Given the description of an element on the screen output the (x, y) to click on. 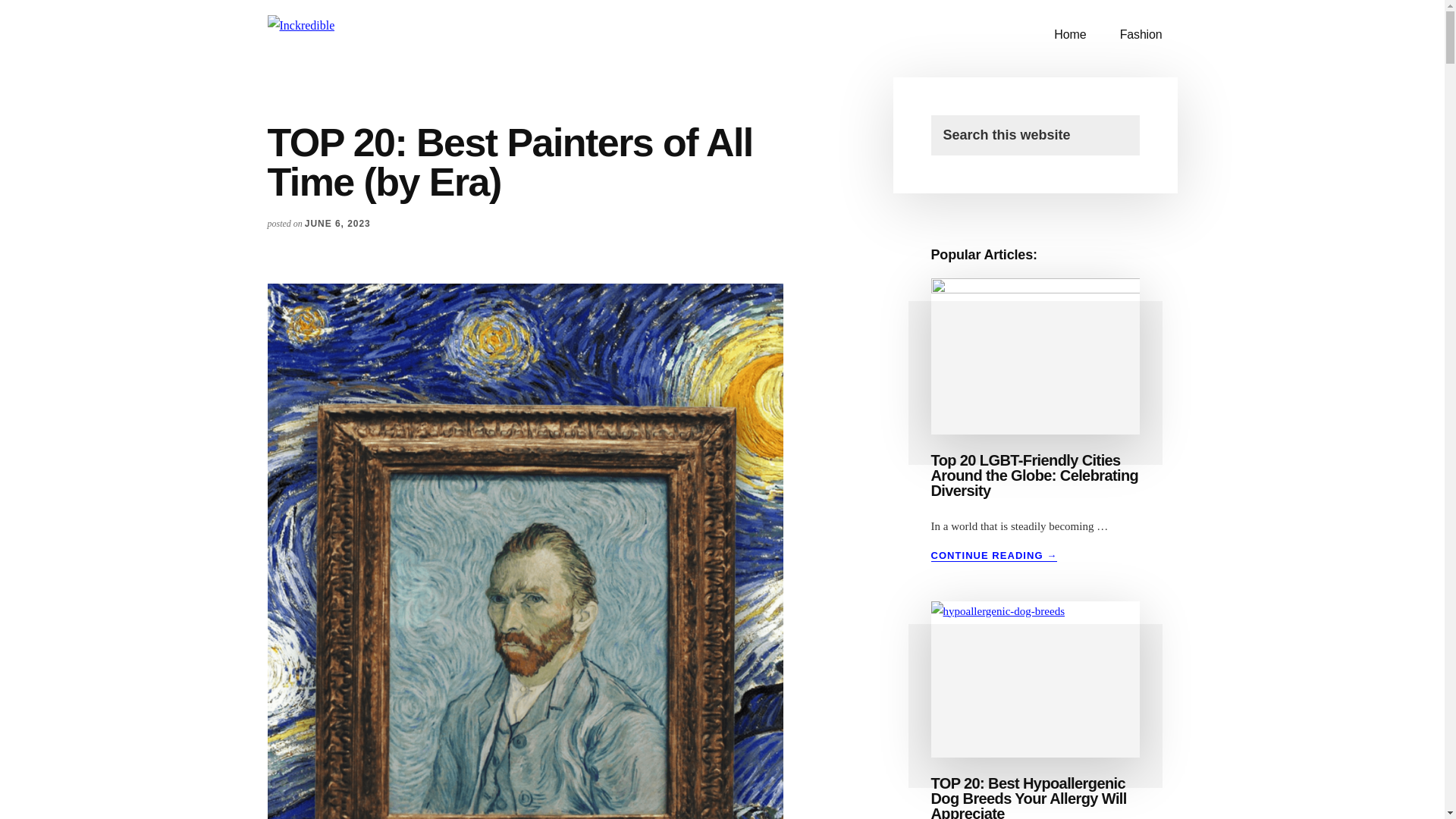
Fashion (1141, 34)
Home (1069, 34)
